Given the description of an element on the screen output the (x, y) to click on. 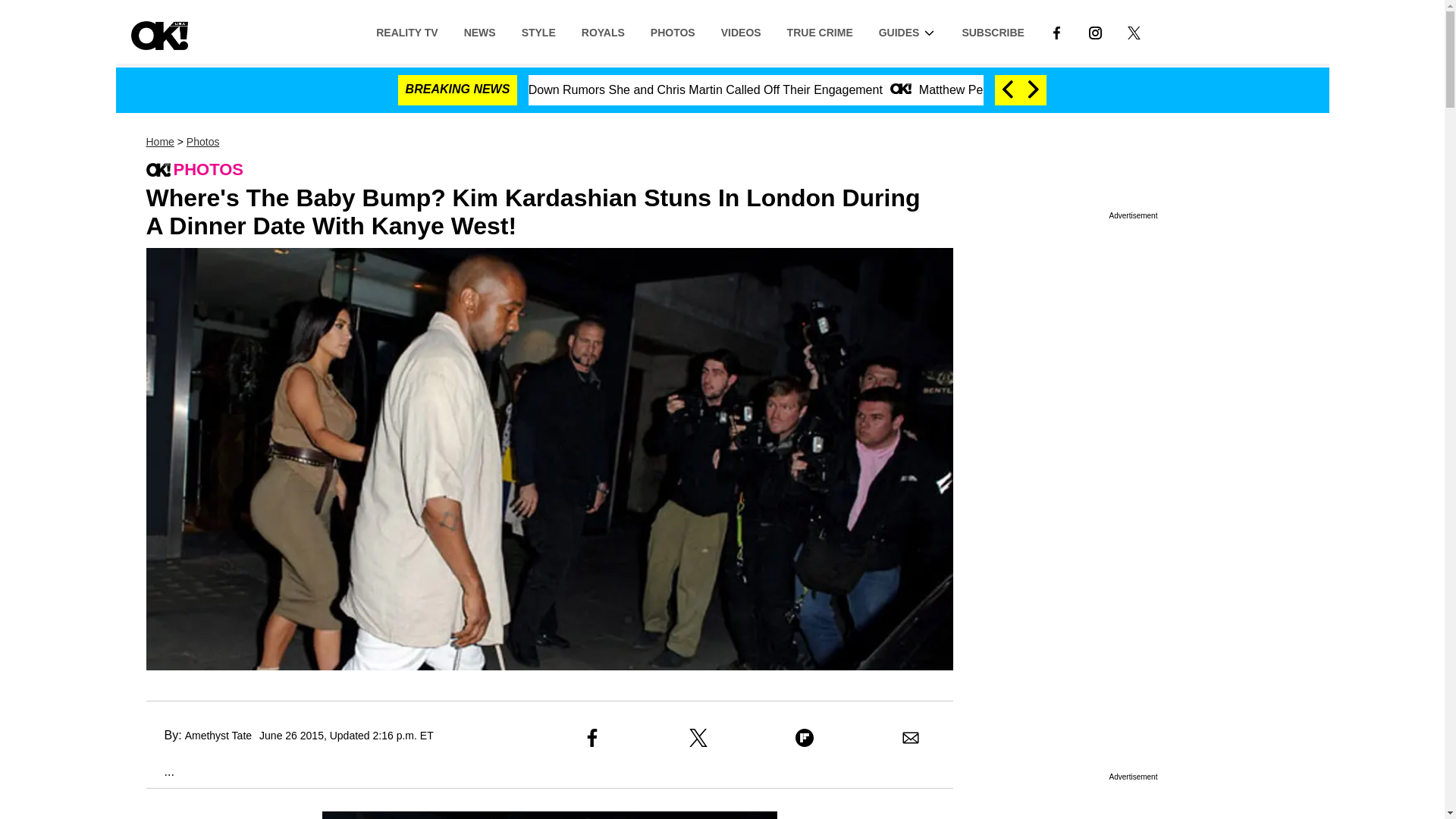
Home (159, 141)
VIDEOS (740, 31)
LINK TO INSTAGRAM (1095, 32)
Link to Facebook (1055, 31)
Amethyst Tate (217, 735)
ROYALS (603, 31)
NEWS (479, 31)
Share to Email (909, 737)
Share to Facebook (590, 737)
LINK TO FACEBOOK (1055, 32)
